Given the description of an element on the screen output the (x, y) to click on. 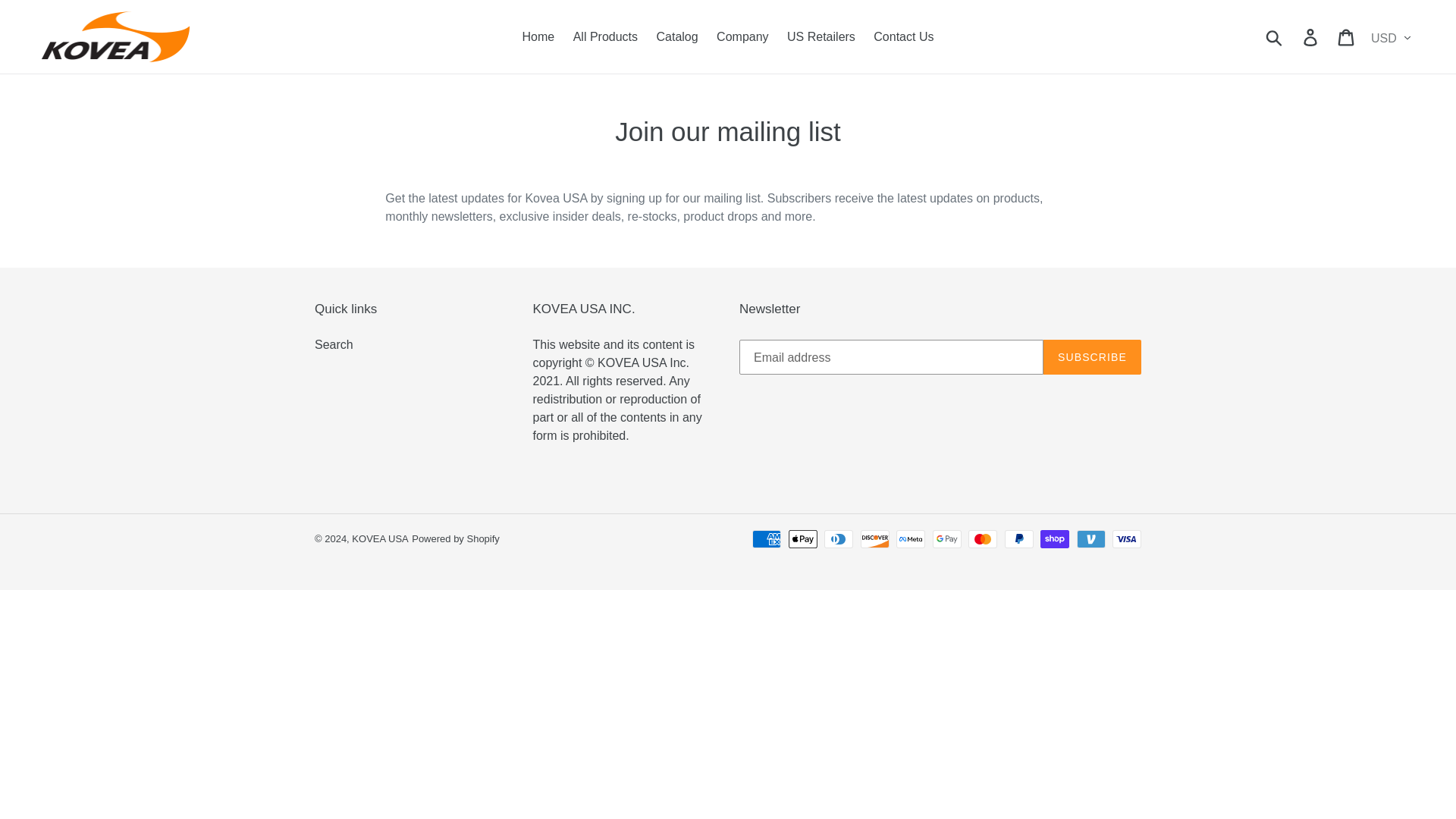
Company (742, 36)
KOVEA USA (379, 538)
US Retailers (820, 36)
Cart (1347, 36)
Log in (1311, 36)
Catalog (677, 36)
Powered by Shopify (455, 538)
Home (538, 36)
Submit (1275, 36)
Search (333, 344)
All Products (605, 36)
Contact Us (903, 36)
SUBSCRIBE (1092, 356)
